Given the description of an element on the screen output the (x, y) to click on. 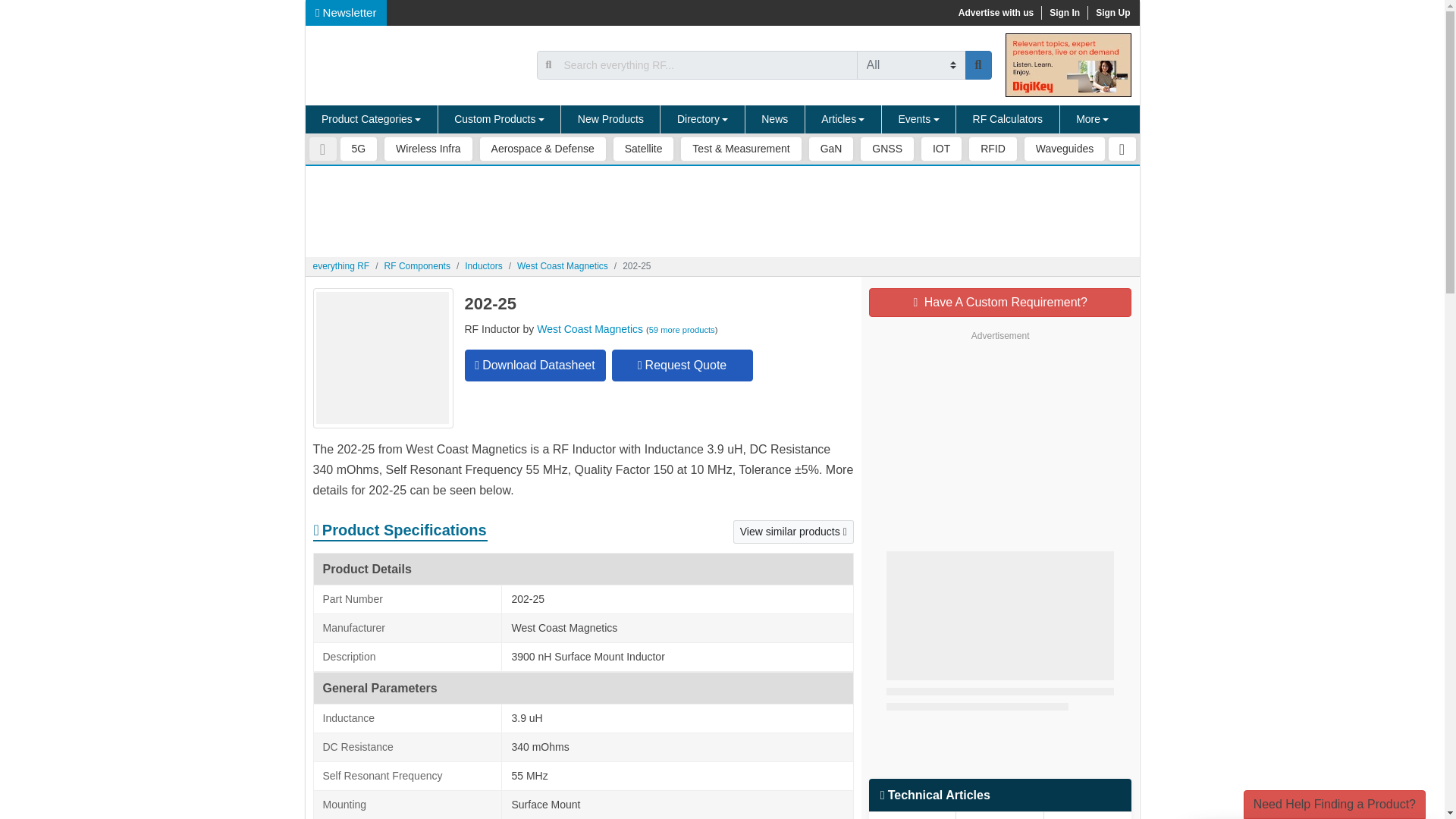
Product Categories (371, 119)
Advertise with us (995, 12)
Sign In (1064, 12)
Sign Up (1112, 12)
Newsletter (345, 12)
